Given the description of an element on the screen output the (x, y) to click on. 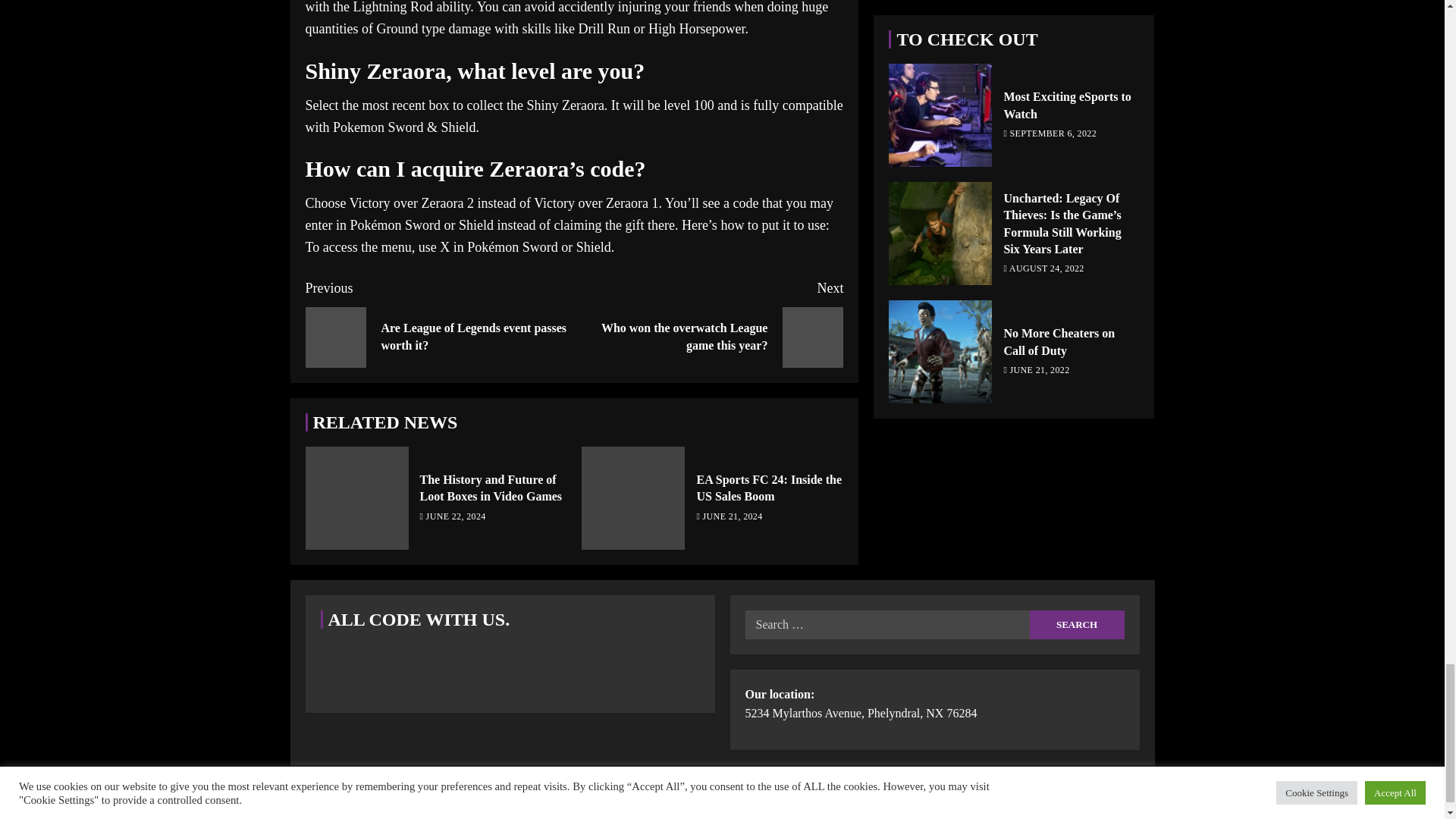
Search (1076, 624)
Search (1076, 624)
